Given the description of an element on the screen output the (x, y) to click on. 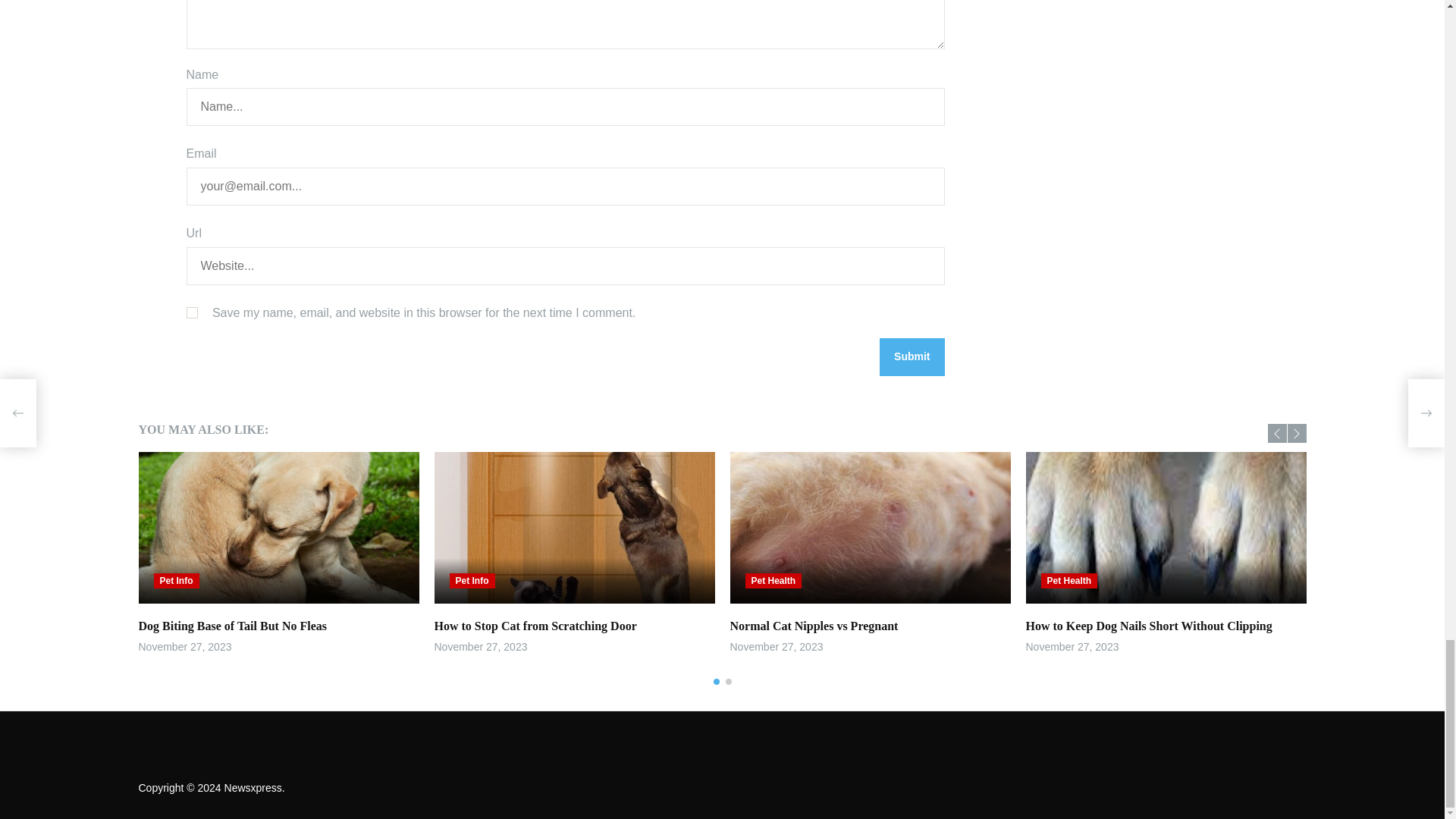
yes (192, 312)
Submit (911, 356)
